Given the description of an element on the screen output the (x, y) to click on. 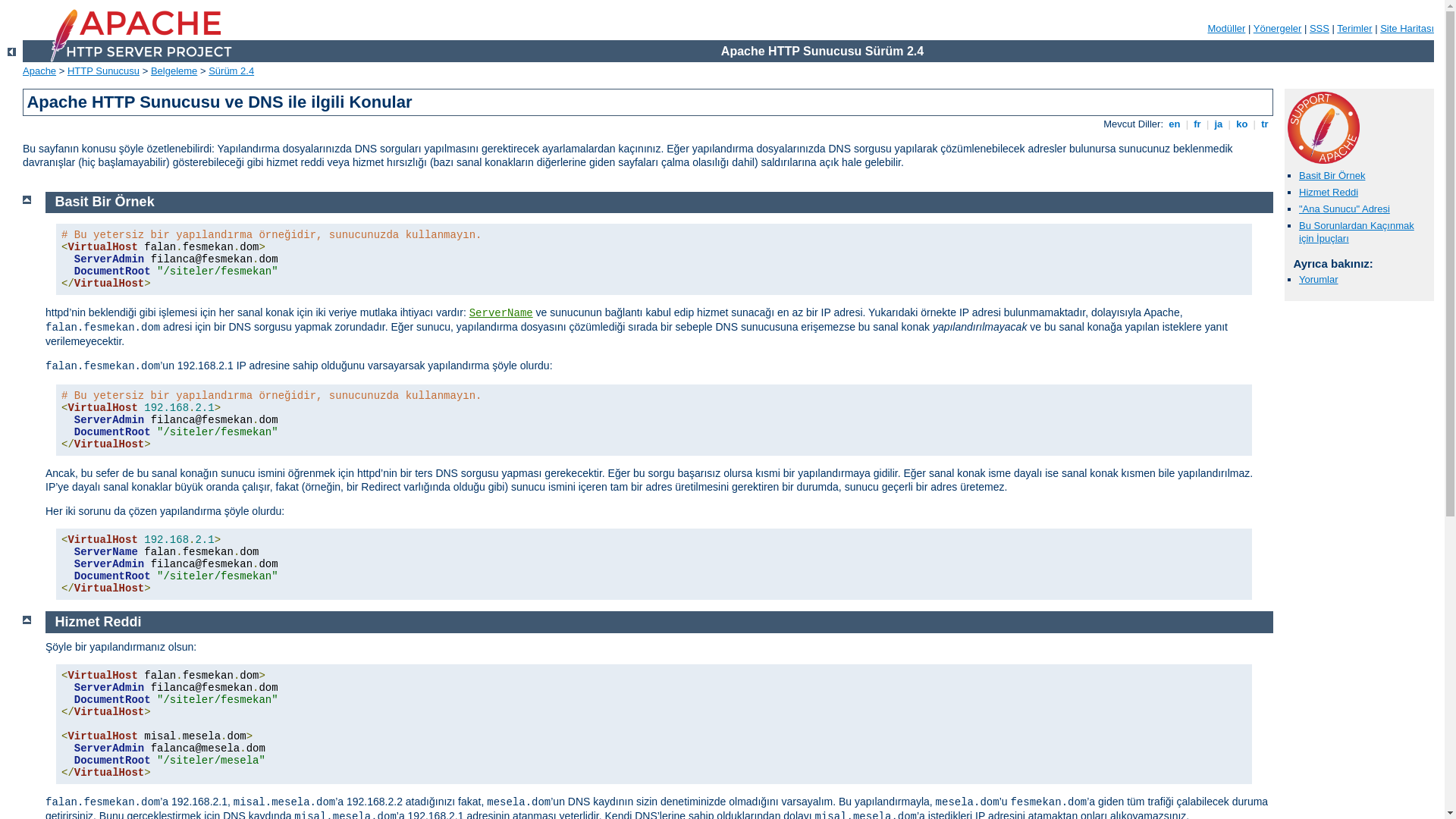
ServerName Element type: text (501, 313)
 tr  Element type: text (1264, 123)
Hizmet Reddi Element type: text (98, 621)
"Ana Sunucu" Adresi Element type: text (1344, 208)
 ko  Element type: text (1241, 123)
 en  Element type: text (1174, 123)
<- Element type: hover (11, 51)
Yorumlar Element type: text (1318, 279)
SSS Element type: text (1319, 28)
 ja  Element type: text (1218, 123)
Belgeleme Element type: text (173, 70)
HTTP Sunucusu Element type: text (103, 70)
Apache Element type: text (39, 70)
Terimler Element type: text (1353, 28)
Hizmet Reddi Element type: text (1328, 191)
 fr  Element type: text (1197, 123)
